Given the description of an element on the screen output the (x, y) to click on. 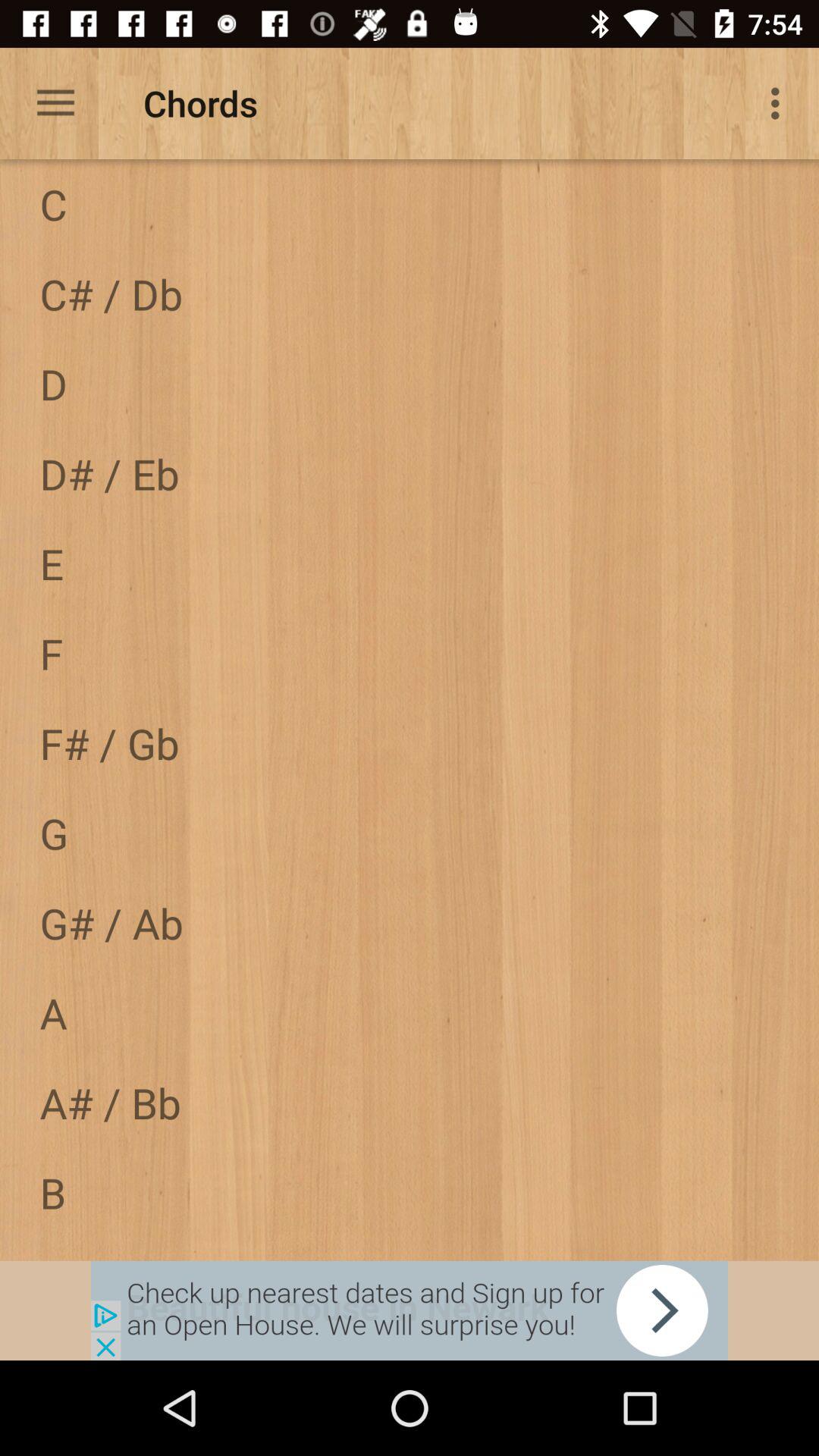
open advertisement (409, 1310)
